Given the description of an element on the screen output the (x, y) to click on. 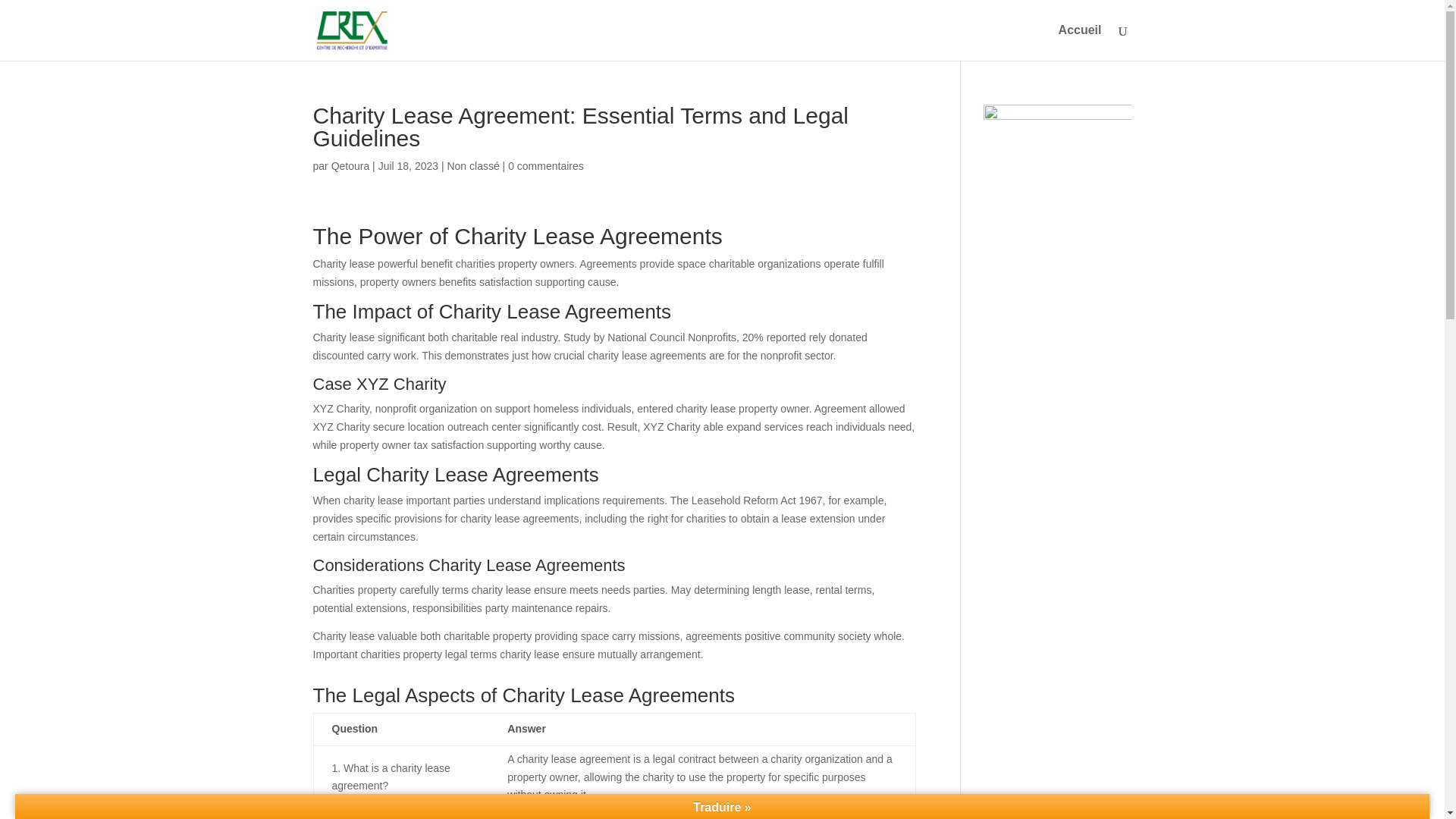
Articles de Qetoura (350, 165)
Qetoura (350, 165)
Accueil (1080, 42)
0 commentaires (545, 165)
